Given the description of an element on the screen output the (x, y) to click on. 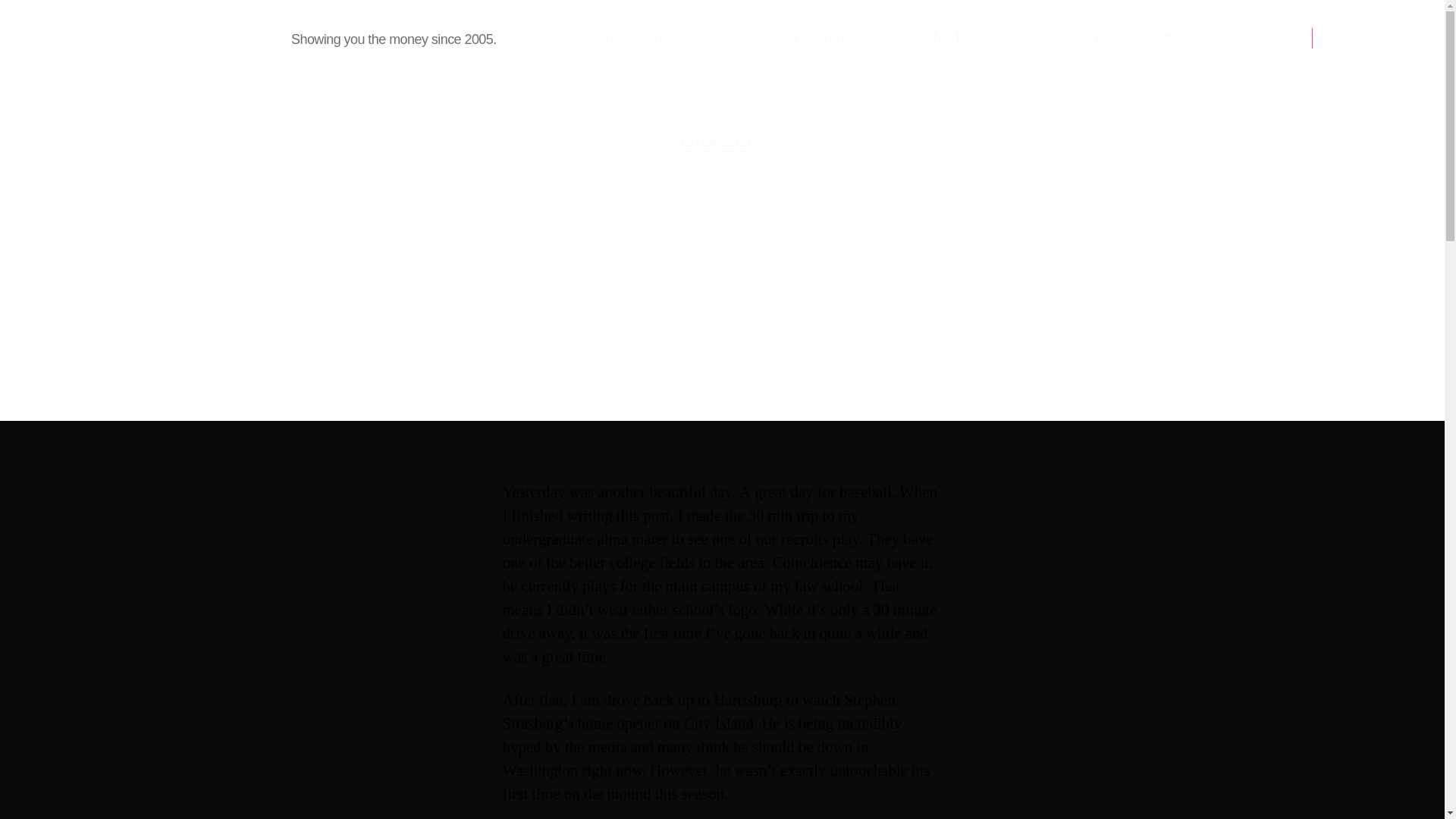
Contact (1258, 37)
April 17, 2010 (745, 350)
Twitter (1163, 37)
Agencies (717, 37)
About (655, 37)
INTERNSHIPS (721, 143)
Ryan Webber (630, 350)
FB (1209, 37)
Search (1350, 37)
School NIL Policies (944, 37)
